Given the description of an element on the screen output the (x, y) to click on. 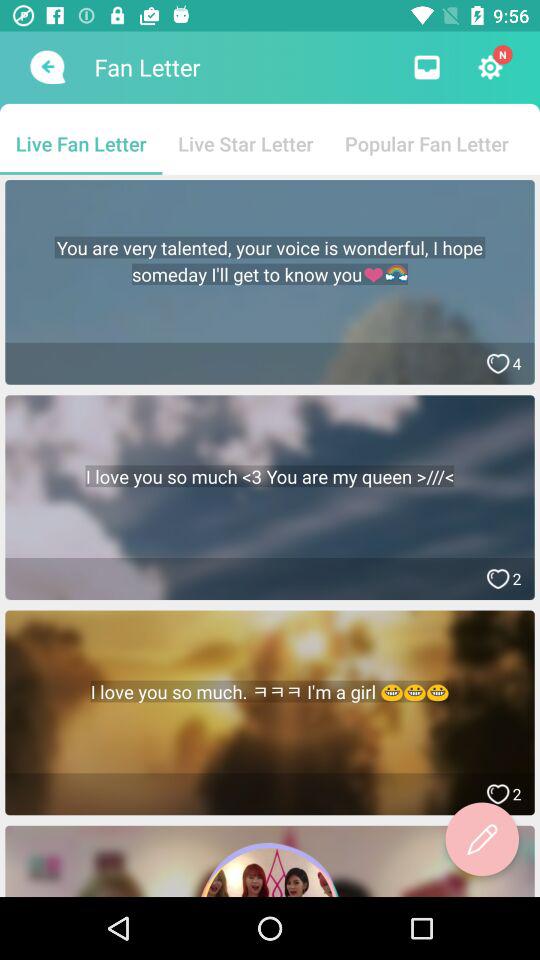
press item next to the fan letter icon (45, 67)
